Given the description of an element on the screen output the (x, y) to click on. 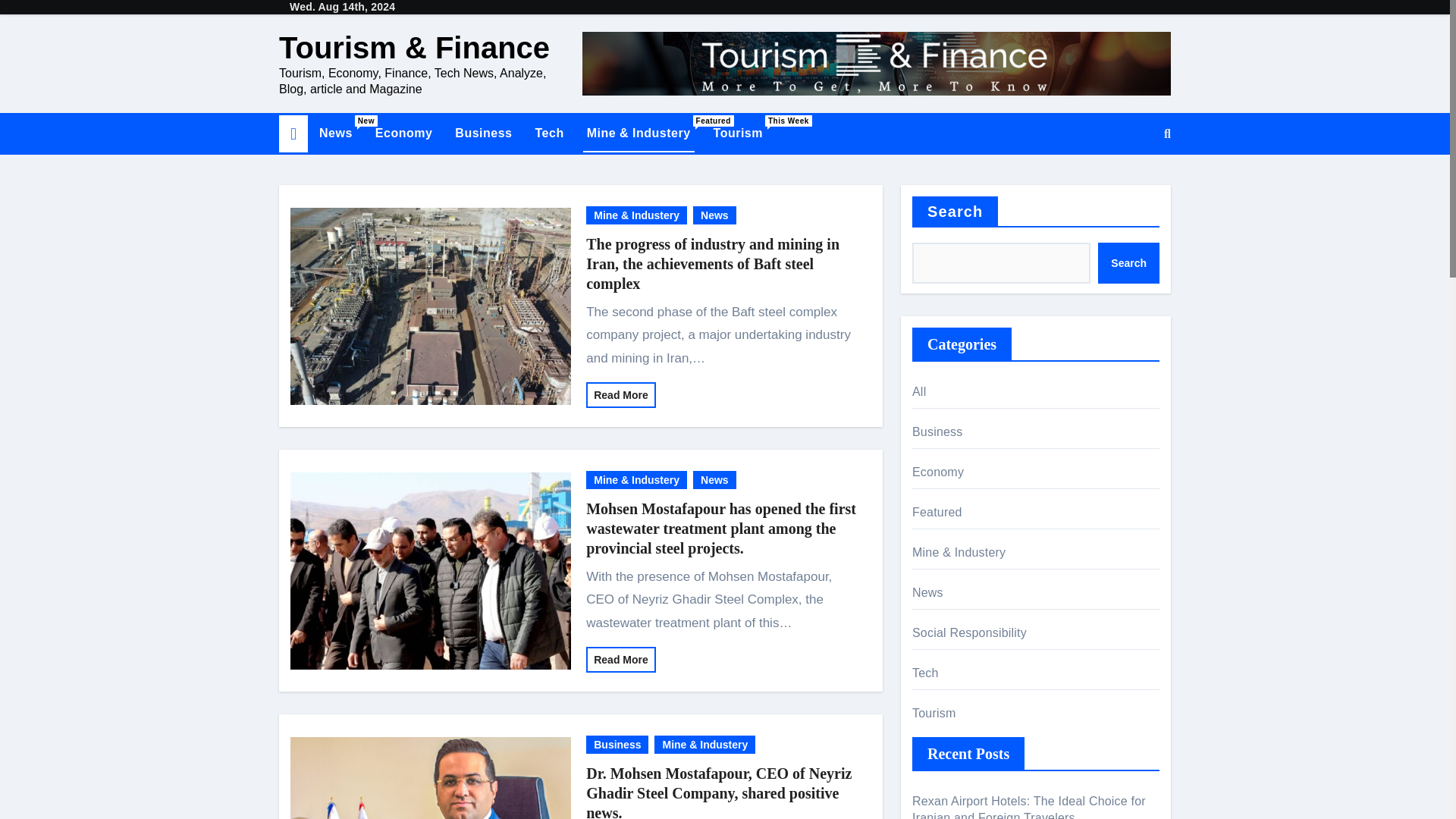
Economy (404, 133)
News (714, 215)
Tourism (737, 133)
Tech (335, 133)
News (548, 133)
Economy (714, 479)
News (404, 133)
Business (335, 133)
